Given the description of an element on the screen output the (x, y) to click on. 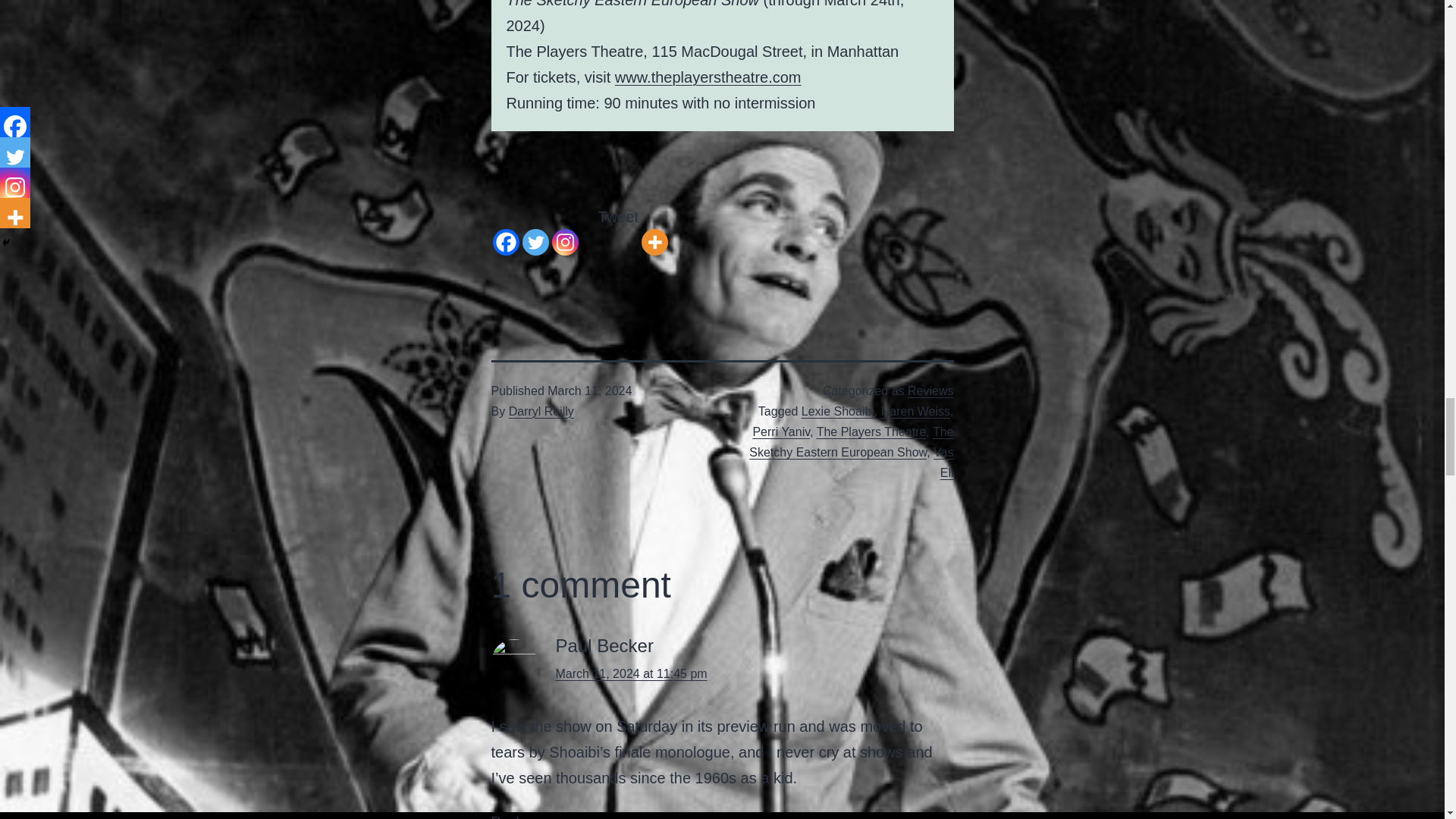
Naren Weiss (915, 410)
Twitter (534, 229)
Tweet (618, 216)
Vas Eli (943, 462)
The Players Theatre (871, 431)
March 11, 2024 at 11:45 pm (630, 673)
Reviews (930, 390)
Instagram (564, 229)
Reply (508, 816)
Lexie Shoaibi (838, 410)
More (655, 229)
www.theplayerstheatre.com (708, 76)
The Sketchy Eastern European Show (851, 441)
Facebook (506, 229)
Perri Yaniv (780, 431)
